Given the description of an element on the screen output the (x, y) to click on. 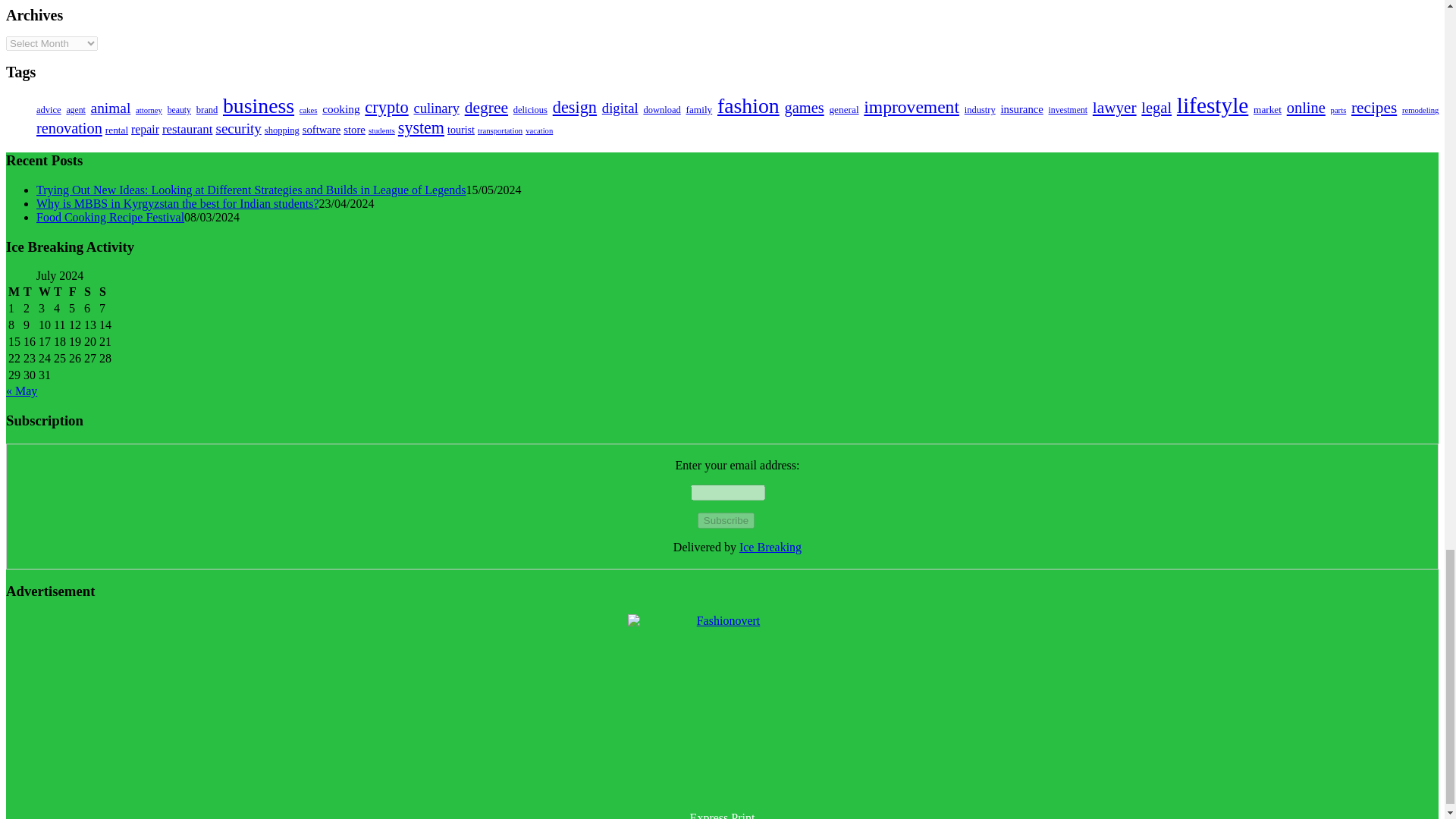
Sunday (105, 291)
Monday (14, 291)
Fashionovert (721, 708)
Wednesday (43, 291)
Subscribe (725, 520)
Friday (74, 291)
Tuesday (29, 291)
Thursday (59, 291)
Saturday (89, 291)
